Given the description of an element on the screen output the (x, y) to click on. 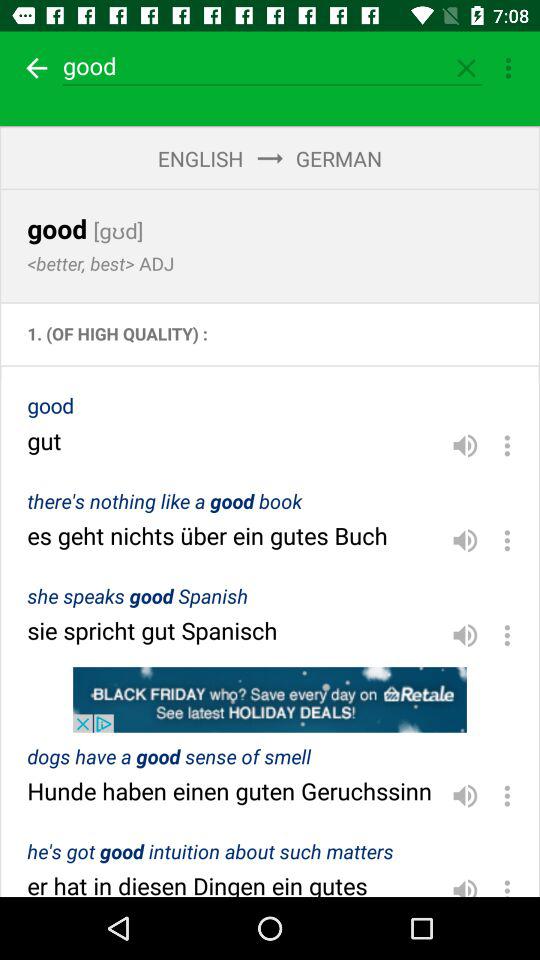
go to volume (465, 540)
